Given the description of an element on the screen output the (x, y) to click on. 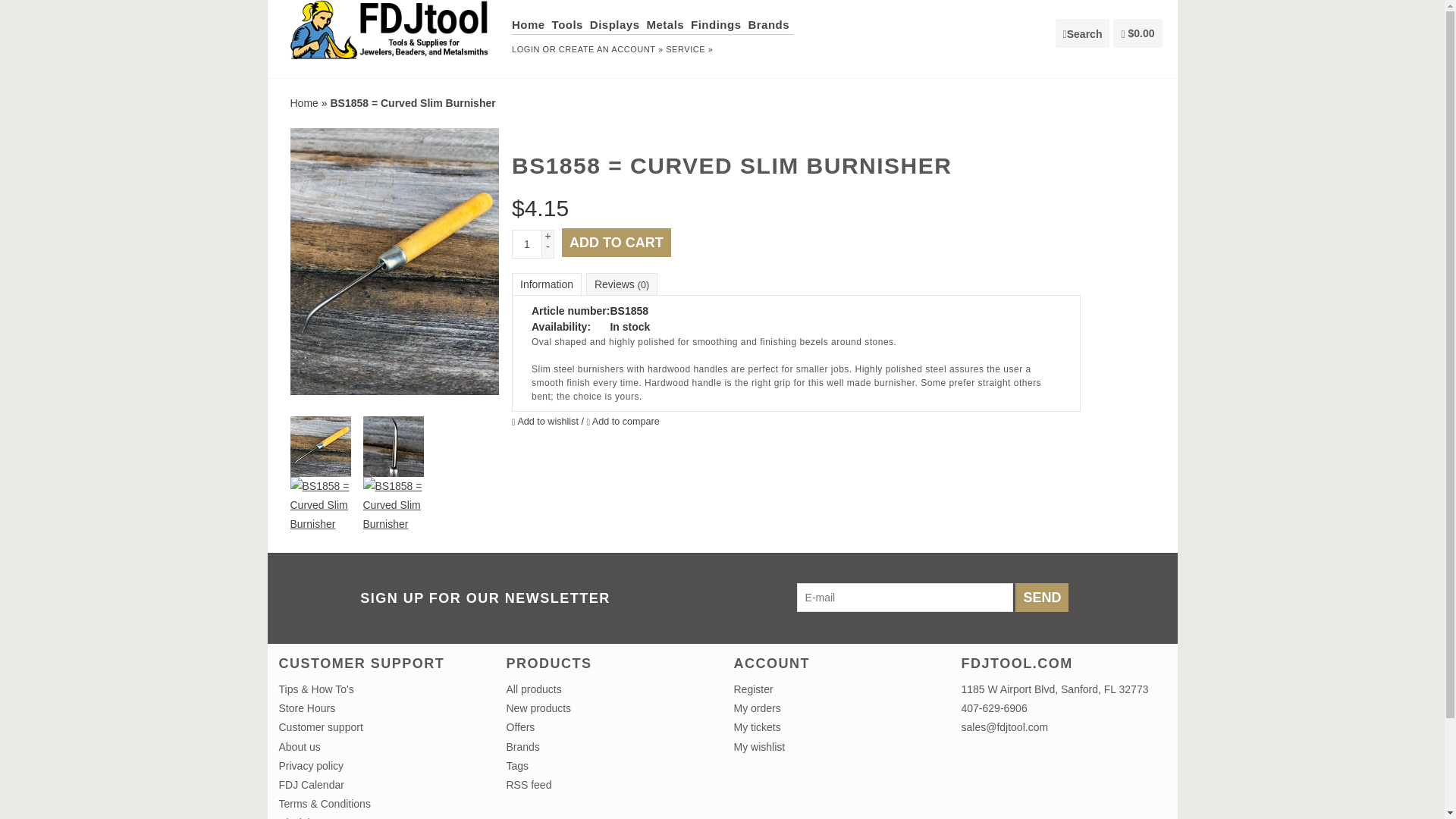
1 (526, 244)
Tools (568, 24)
Home (530, 24)
Tools (568, 24)
